Given the description of an element on the screen output the (x, y) to click on. 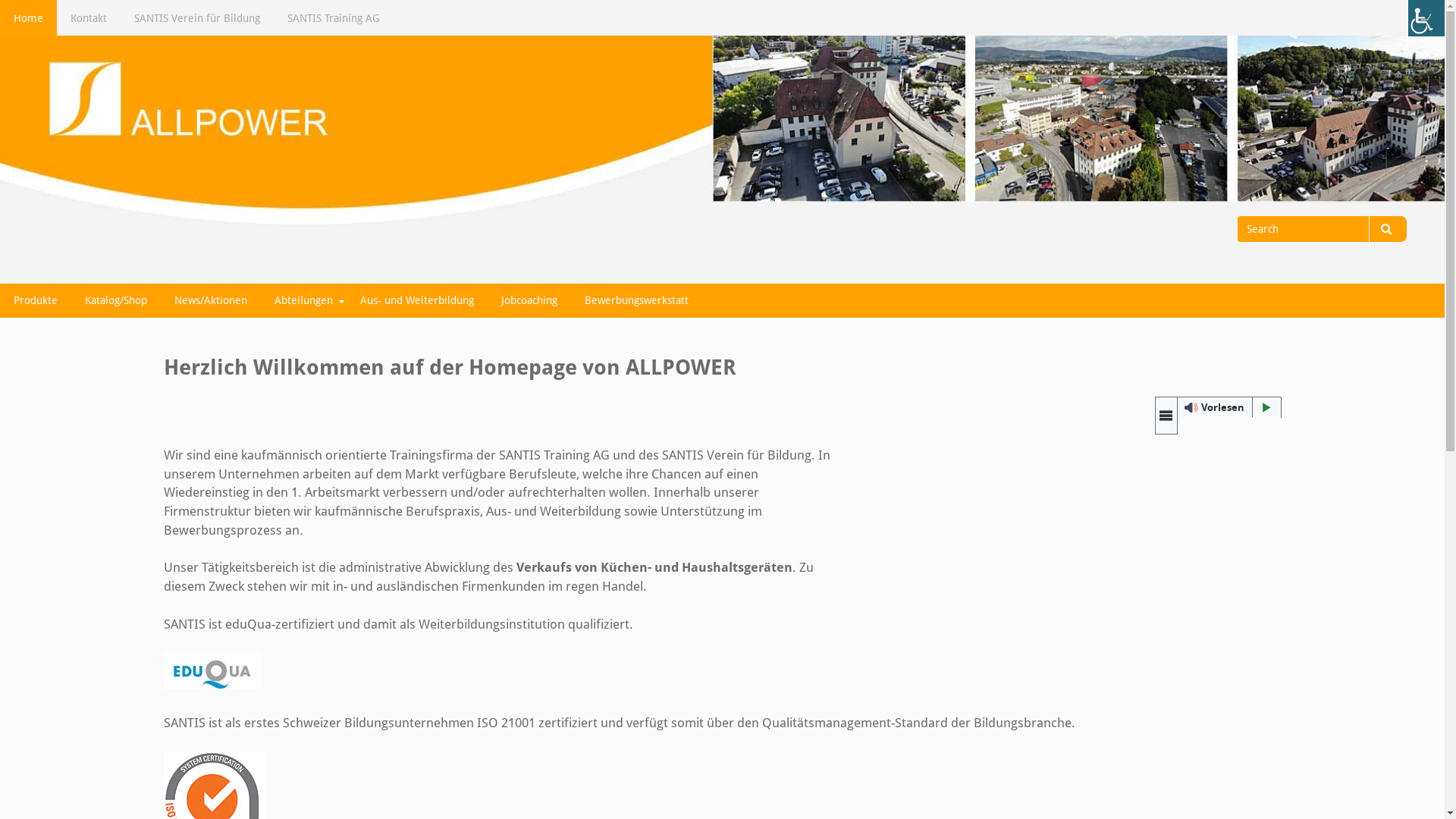
Praxisfirma Allpower Element type: text (162, 244)
SANTIS Training AG Element type: text (333, 17)
Abteilungen Element type: text (303, 300)
Katalog/Shop Element type: text (115, 300)
Jobcoaching Element type: text (529, 300)
Wie funktioniert eine Praxisfirma genau? (Allpower) Element type: hover (987, 557)
Search Element type: text (1387, 229)
Aus- und Weiterbildung Element type: text (416, 300)
Kontakt Element type: text (88, 17)
Accessibility Helper sidebar Element type: hover (1426, 18)
News/Aktionen Element type: text (210, 300)
Produkte Element type: text (35, 300)
Vorlesen Element type: text (1217, 407)
Home Element type: text (28, 17)
Bewerbungswerkstatt Element type: text (636, 300)
